Given the description of an element on the screen output the (x, y) to click on. 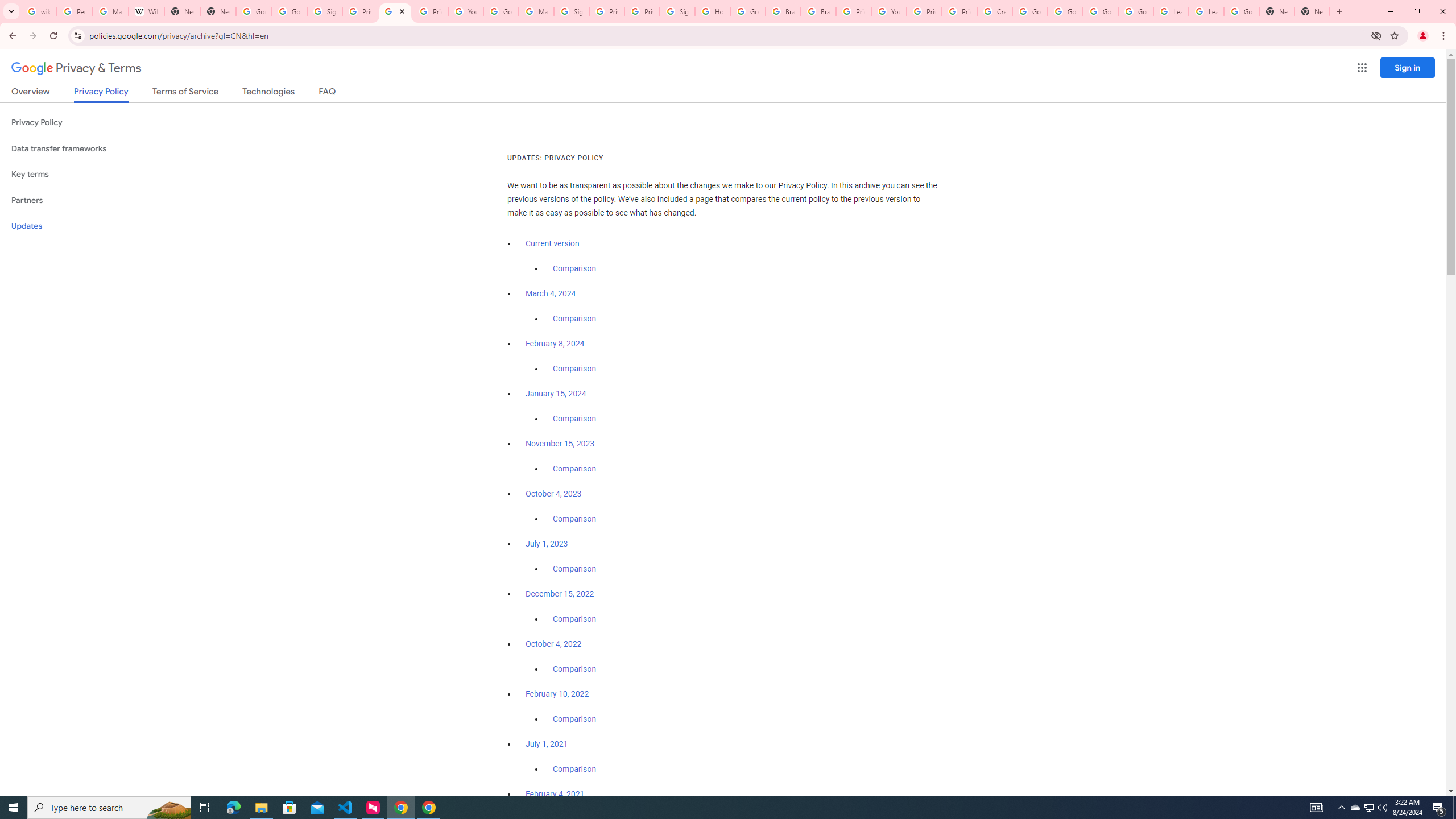
Google Drive: Sign-in (288, 11)
Google Account Help (1064, 11)
March 4, 2024 (550, 293)
Manage your Location History - Google Search Help (110, 11)
December 15, 2022 (559, 593)
Sign in - Google Accounts (677, 11)
Google Account Help (1135, 11)
Google Account Help (1099, 11)
